Given the description of an element on the screen output the (x, y) to click on. 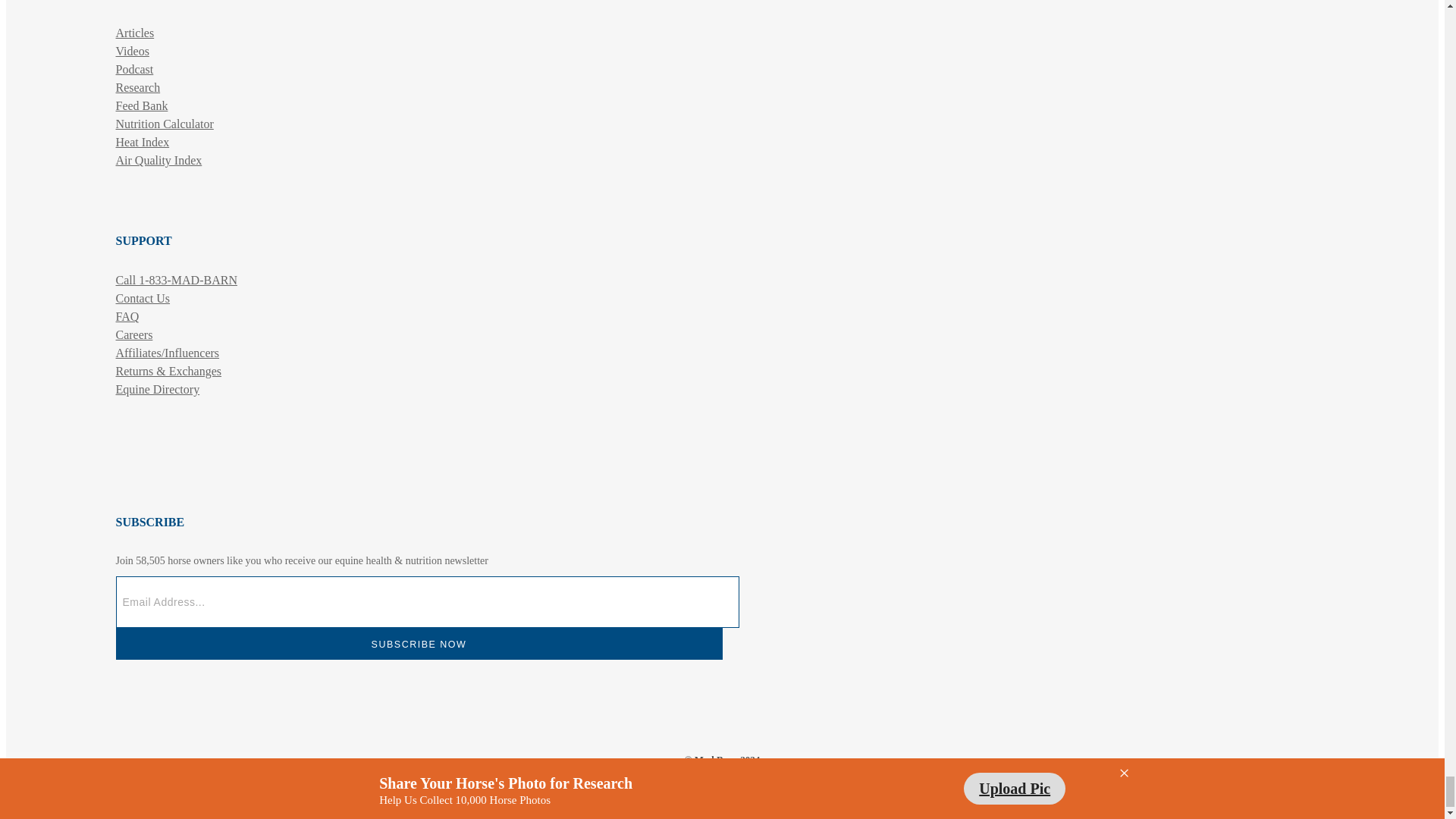
Subscribe Now (418, 644)
